Given the description of an element on the screen output the (x, y) to click on. 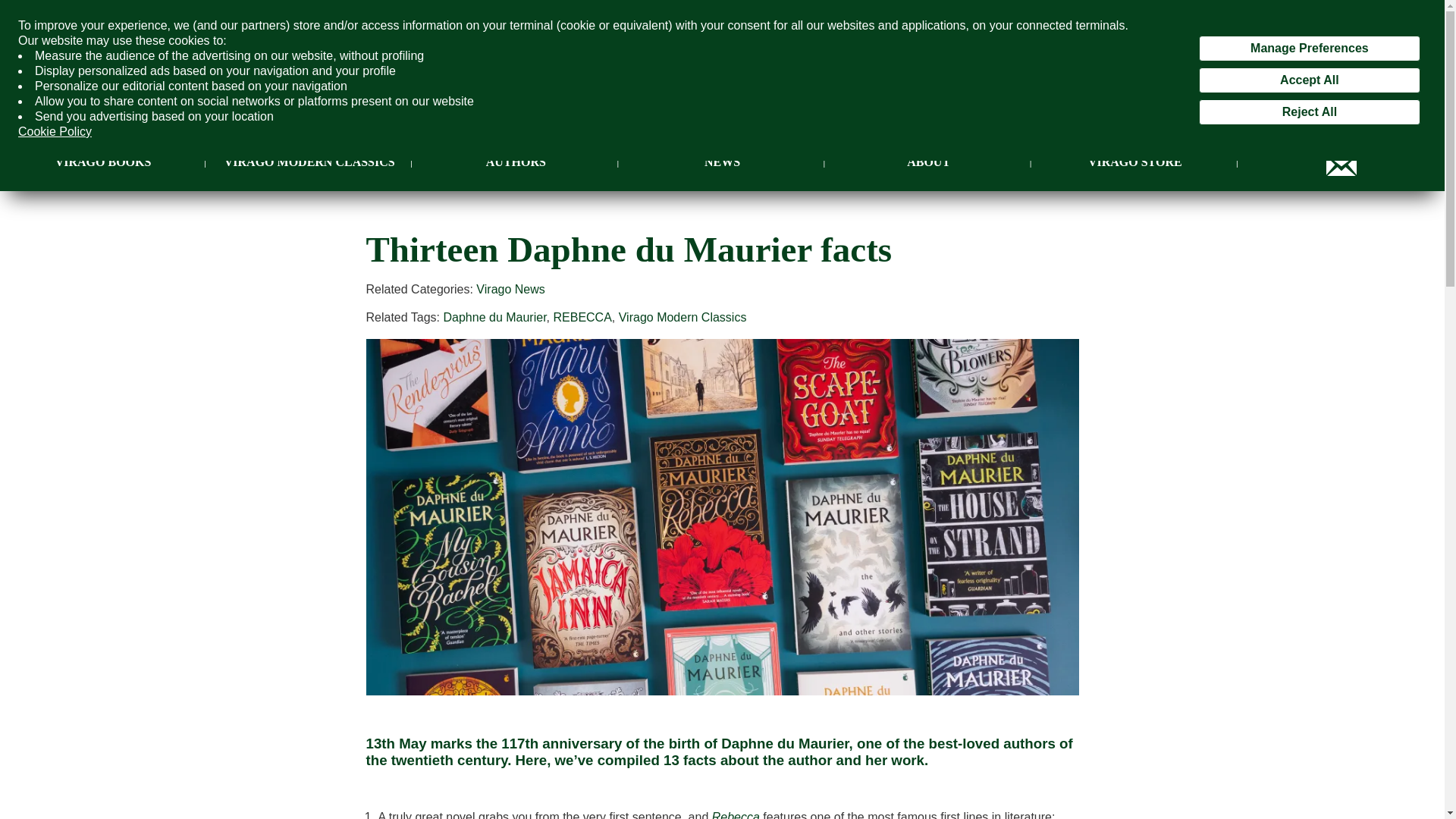
Daphne du Maurier (494, 317)
Virago Modern Classics (682, 317)
Virago News (510, 288)
VIRAGO BOOKS (103, 161)
VIRAGO STORE (1134, 161)
NEWSLETTER (1340, 161)
VIRAGO MODERN CLASSICS (309, 161)
NEWS (721, 161)
AUTHORS (515, 161)
ABOUT (928, 161)
